Given the description of an element on the screen output the (x, y) to click on. 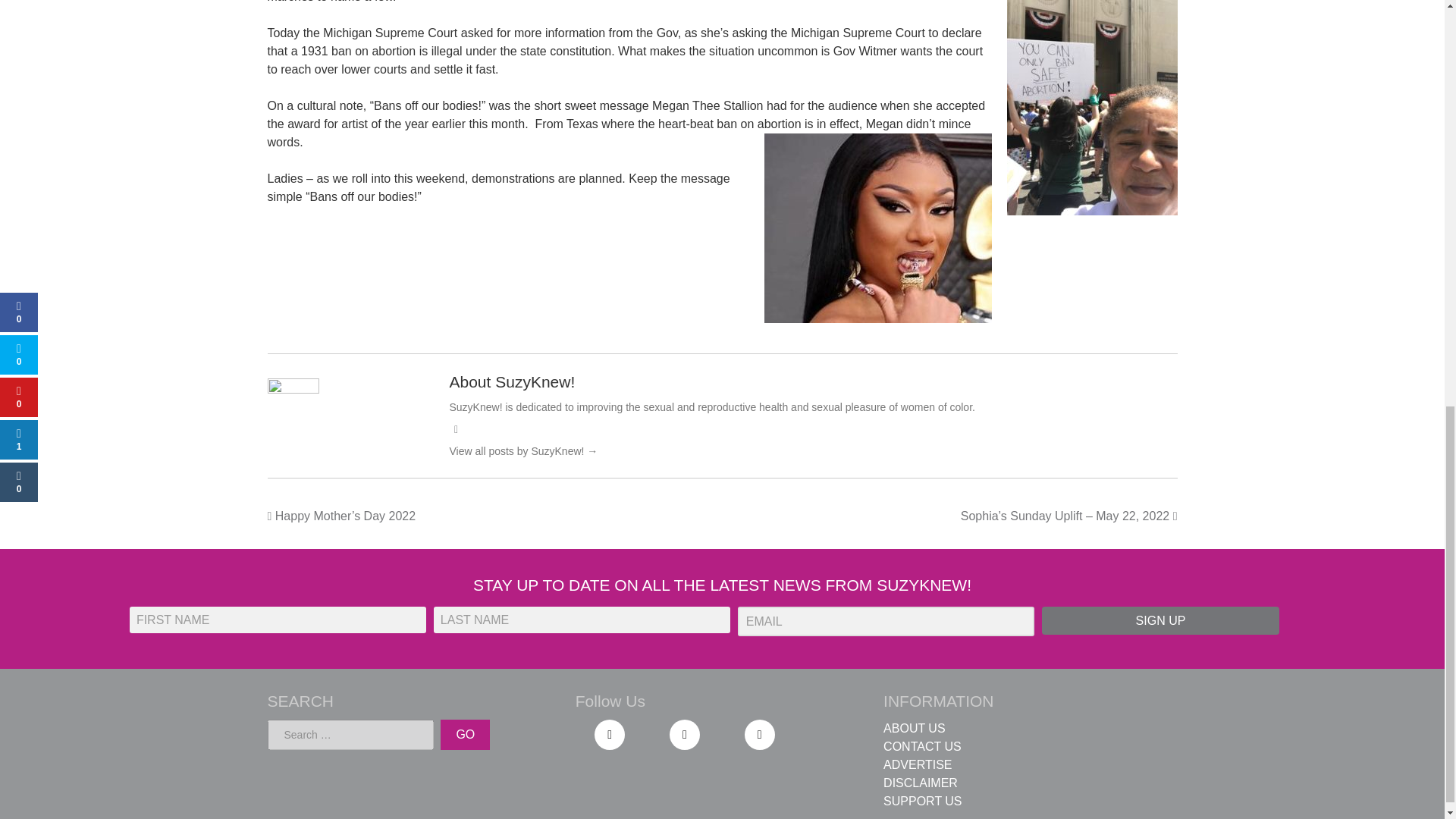
ABOUT US (913, 727)
DISCLAIMER (920, 782)
ADVERTISE (917, 764)
GO (465, 734)
CONTACT US (921, 746)
GO (465, 734)
Website (455, 428)
GO (465, 734)
SIGN UP (1160, 620)
